Given the description of an element on the screen output the (x, y) to click on. 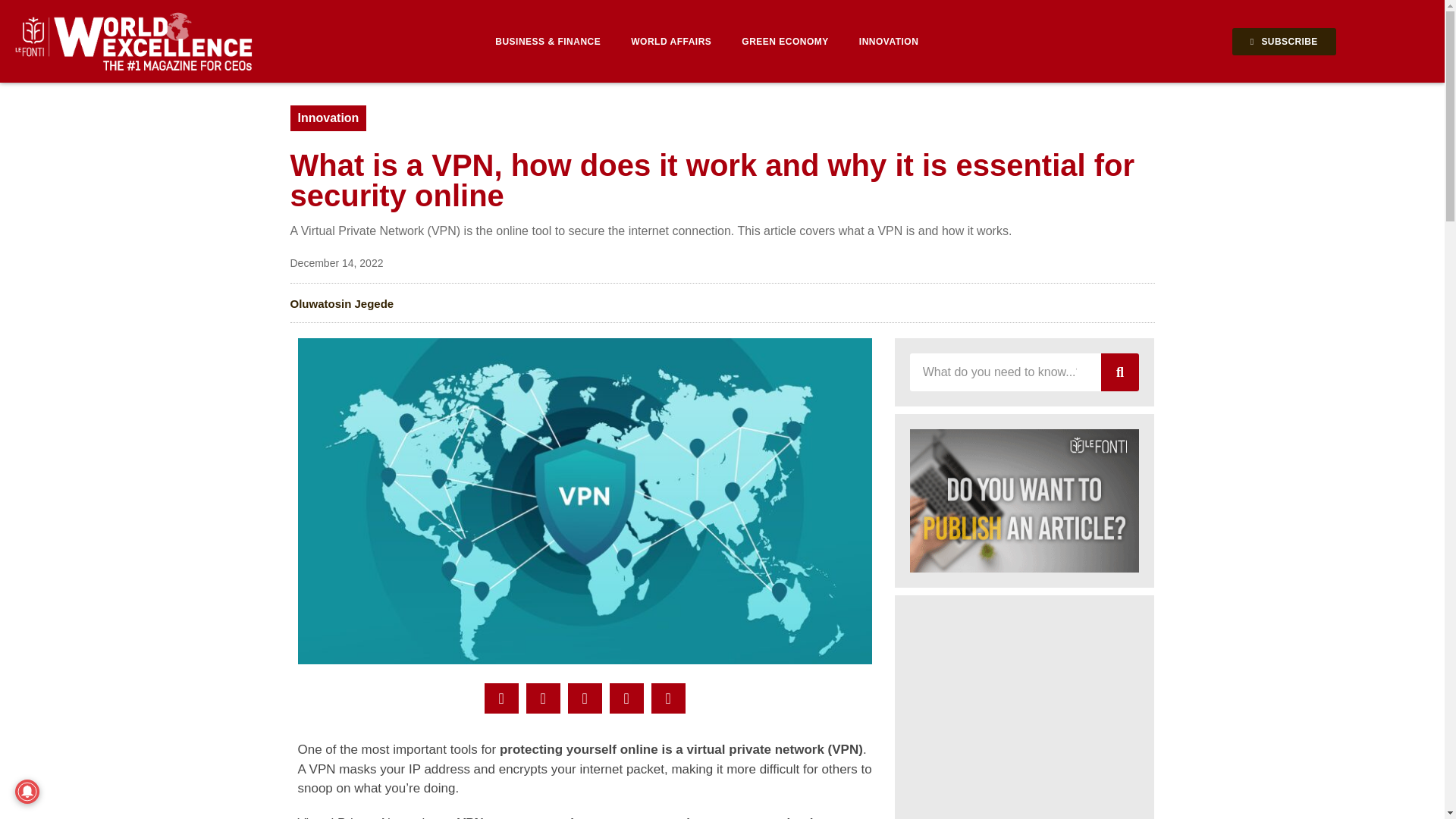
SUBSCRIBE (1283, 41)
INNOVATION (889, 41)
GREEN ECONOMY (785, 41)
WORLD AFFAIRS (670, 41)
Innovation (327, 118)
